Given the description of an element on the screen output the (x, y) to click on. 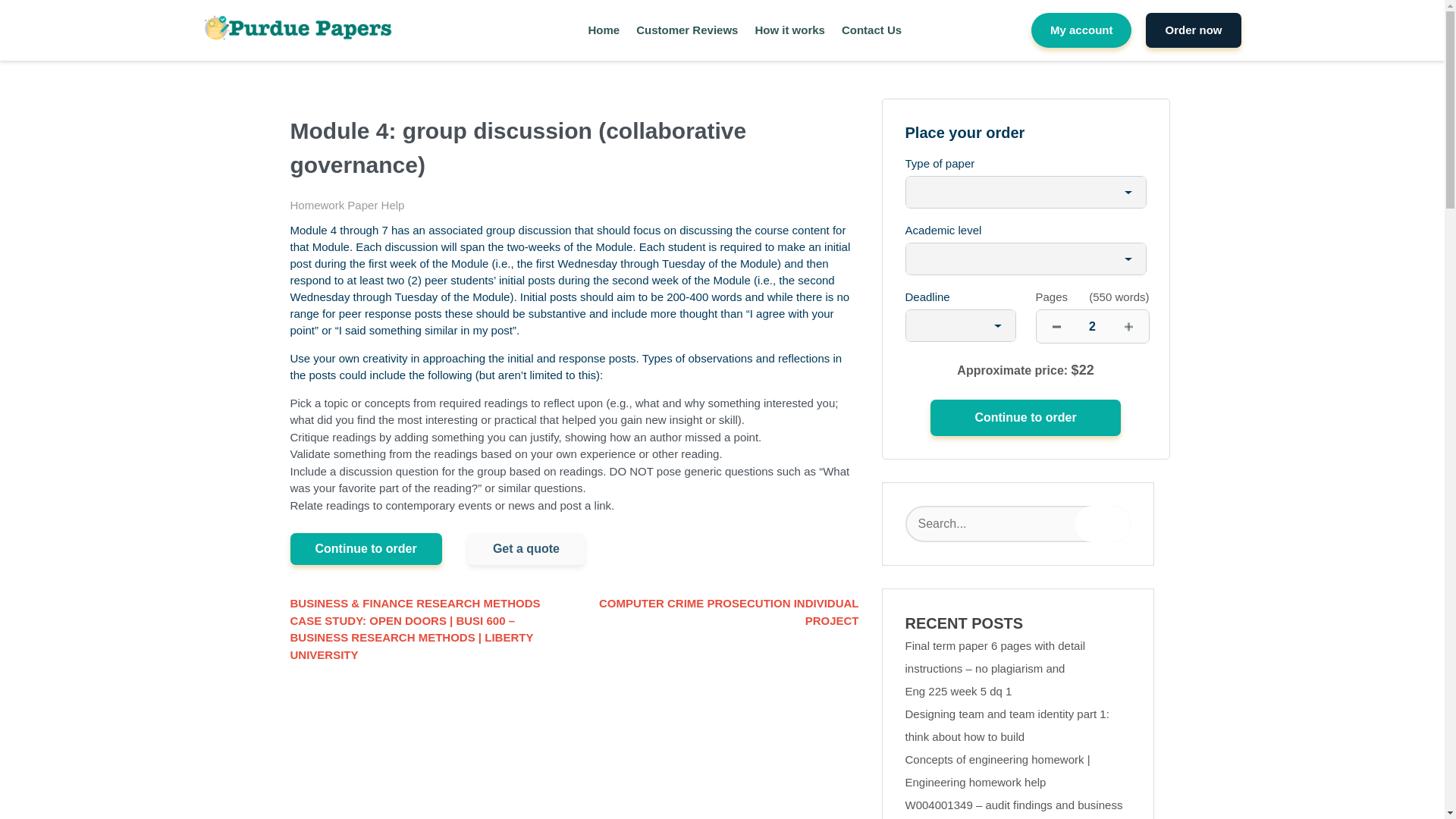
Continue to order (1024, 417)
Homework Paper Help (346, 205)
2 (1091, 326)
Home (604, 30)
Order now (1192, 30)
Customer Reviews (687, 30)
Continue to order (1024, 417)
My account (1081, 30)
How it works (789, 30)
Eng 225 week 5 dq 1 (958, 690)
Contact Us (871, 30)
COMPUTER CRIME PROSECUTION INDIVIDUAL PROJECT (717, 612)
Search (1102, 524)
Continue to order (365, 549)
